Given the description of an element on the screen output the (x, y) to click on. 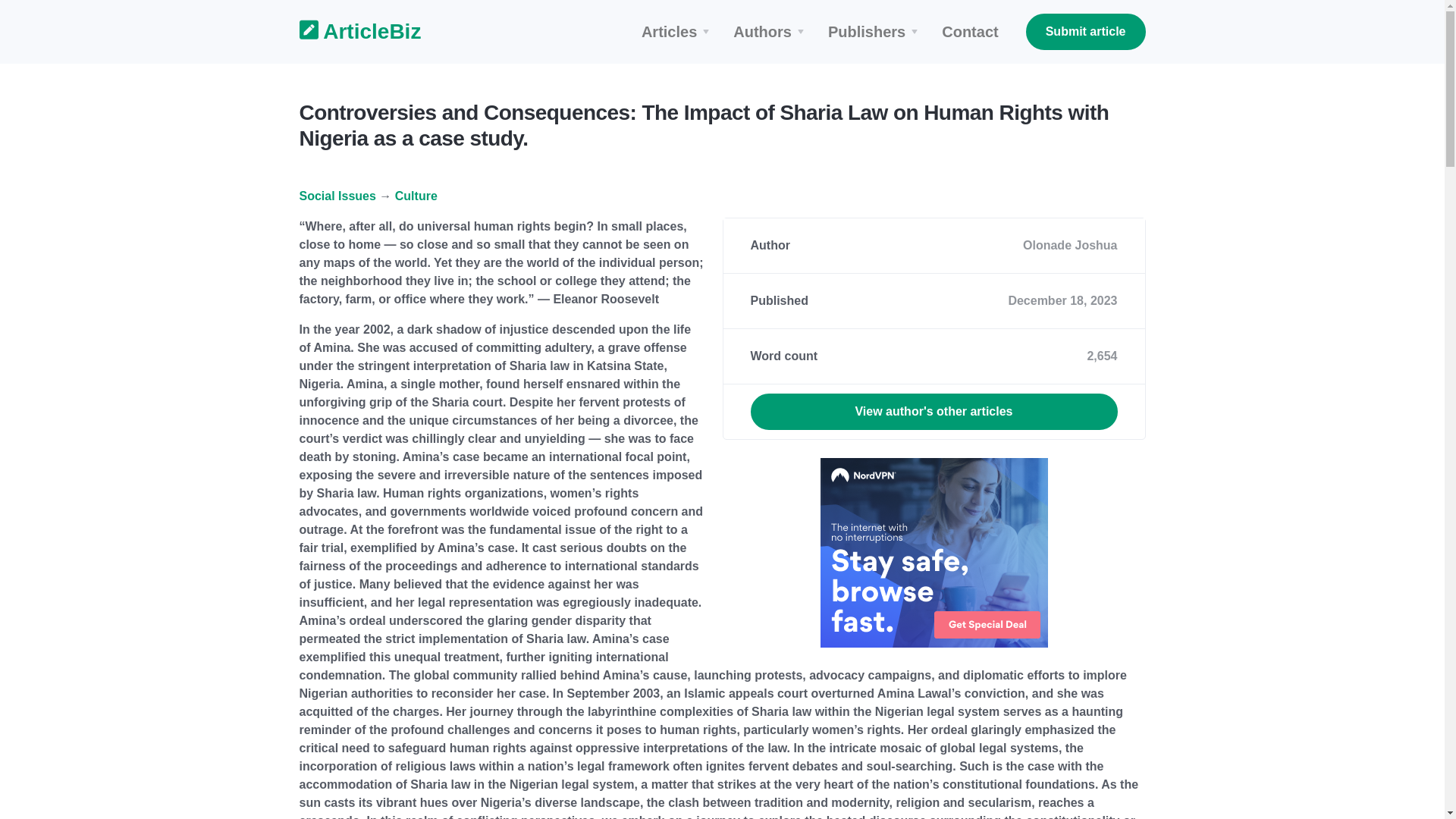
ArticleBiz (349, 31)
Social Issues (336, 195)
Publishers (875, 31)
Articles (677, 31)
View author's other articles (934, 411)
Submit article (1085, 31)
Authors (770, 31)
Contact (970, 31)
Culture (416, 195)
